Given the description of an element on the screen output the (x, y) to click on. 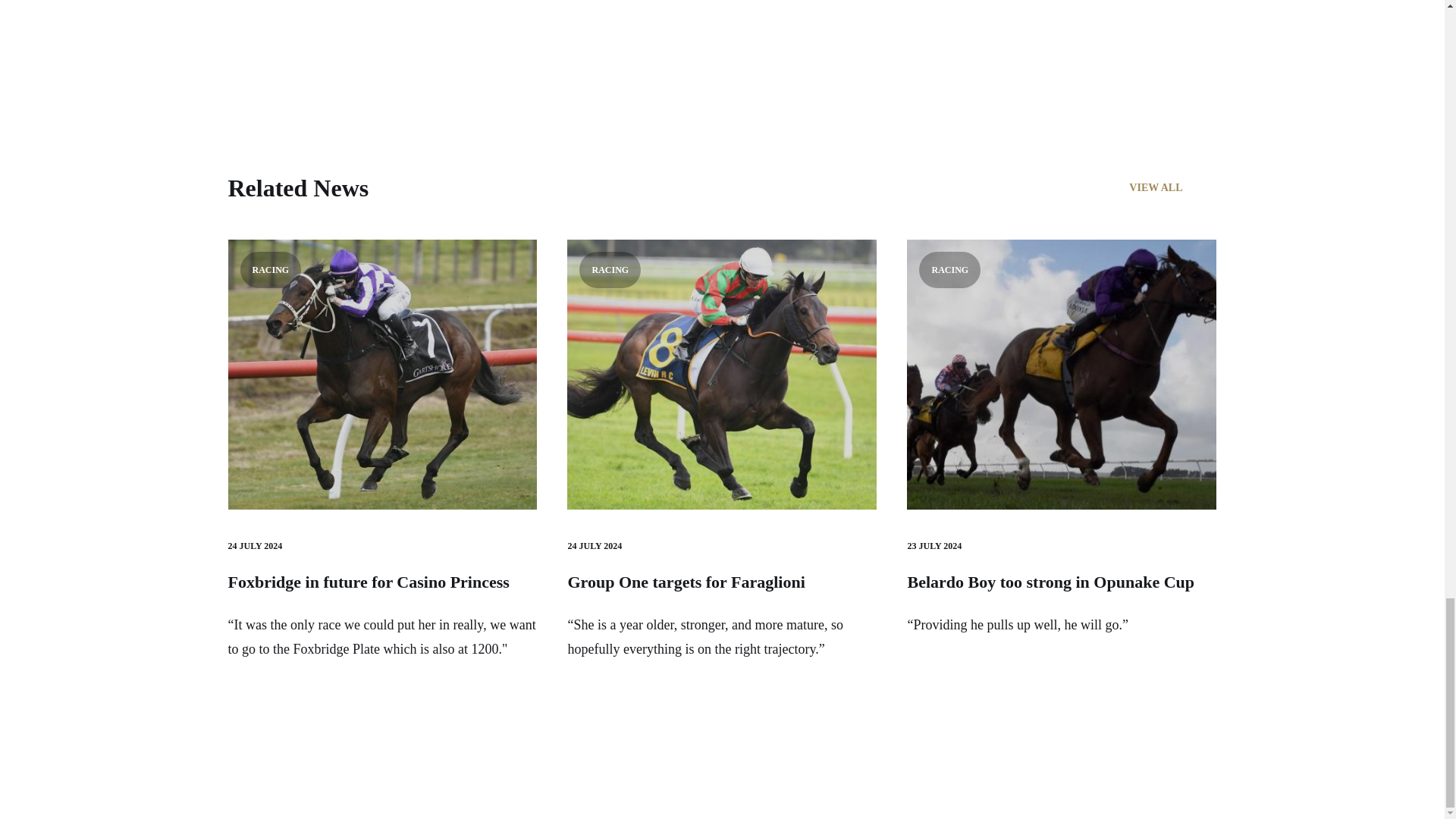
Copy Copy article link to clipboard (478, 32)
LinkedIn Link to share article on Twitter (449, 32)
Foxbridge in future for Casino Princess (367, 581)
Group One targets for Faraglioni (686, 581)
Facebook Link to share article on Facebook (388, 32)
RACING (382, 374)
Copy Copy article link to clipboard (478, 32)
Twitter Link to share article on Twitter (418, 32)
RACING (1061, 374)
VIEW ALL (1172, 188)
Twitter Link to share article on Twitter (418, 32)
LinkedIn Link to share article on Twitter (449, 32)
RACING (721, 374)
Facebook Link to share article on Facebook (388, 32)
